Given the description of an element on the screen output the (x, y) to click on. 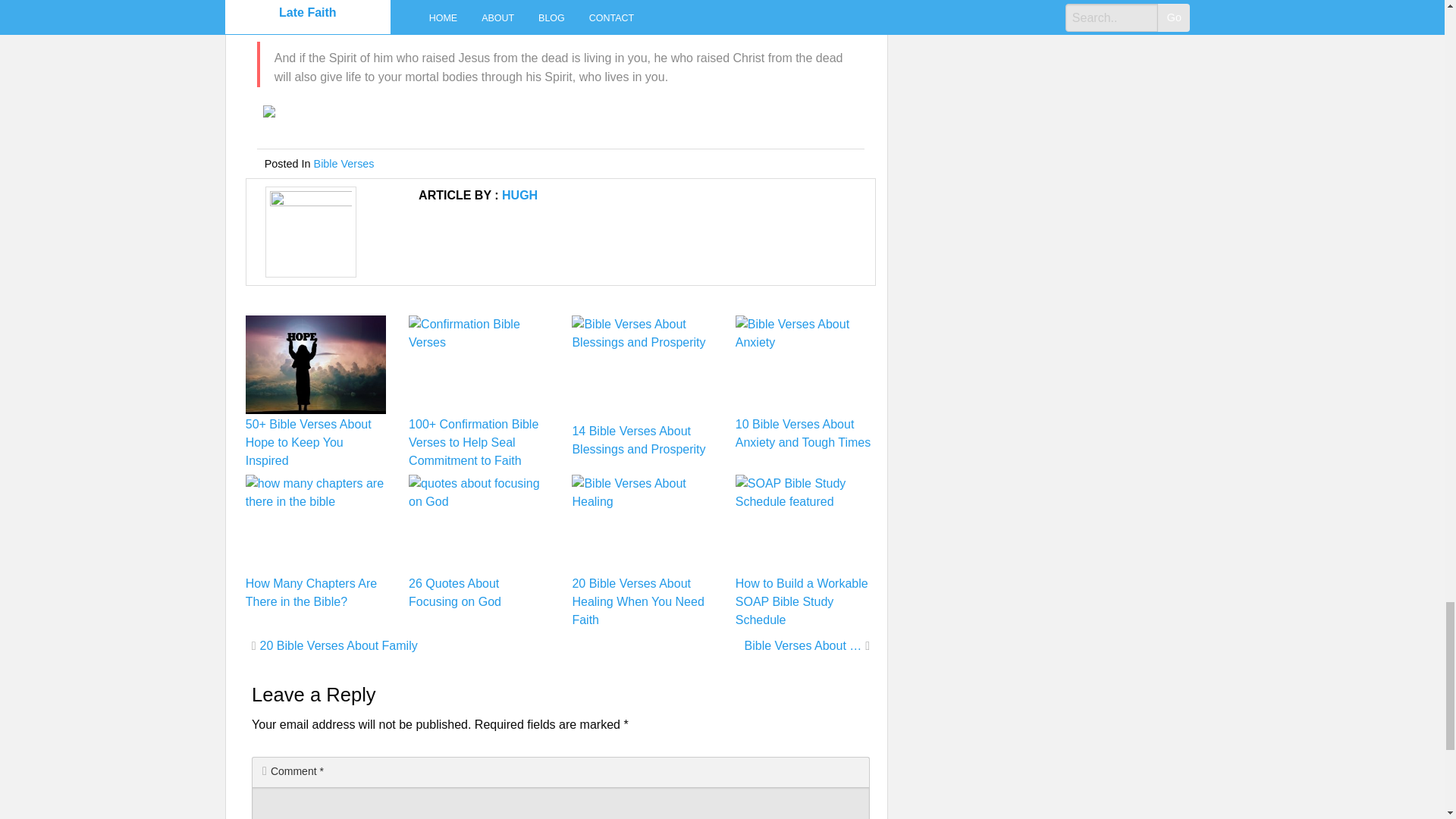
26 Quotes About Focusing on God (454, 592)
14 Bible Verses About Blessings and Prosperity (638, 440)
10 Bible Verses About Anxiety and Tough Times (802, 432)
How Many Chapters Are There in the Bible? (311, 592)
How Many Chapters Are There in the Bible? (311, 592)
10 Bible Verses About Anxiety and Tough Times (802, 432)
HUGH (519, 195)
14 Bible Verses About Blessings and Prosperity (638, 440)
Bible Verses (344, 163)
Posts by Hugh (519, 195)
